Given the description of an element on the screen output the (x, y) to click on. 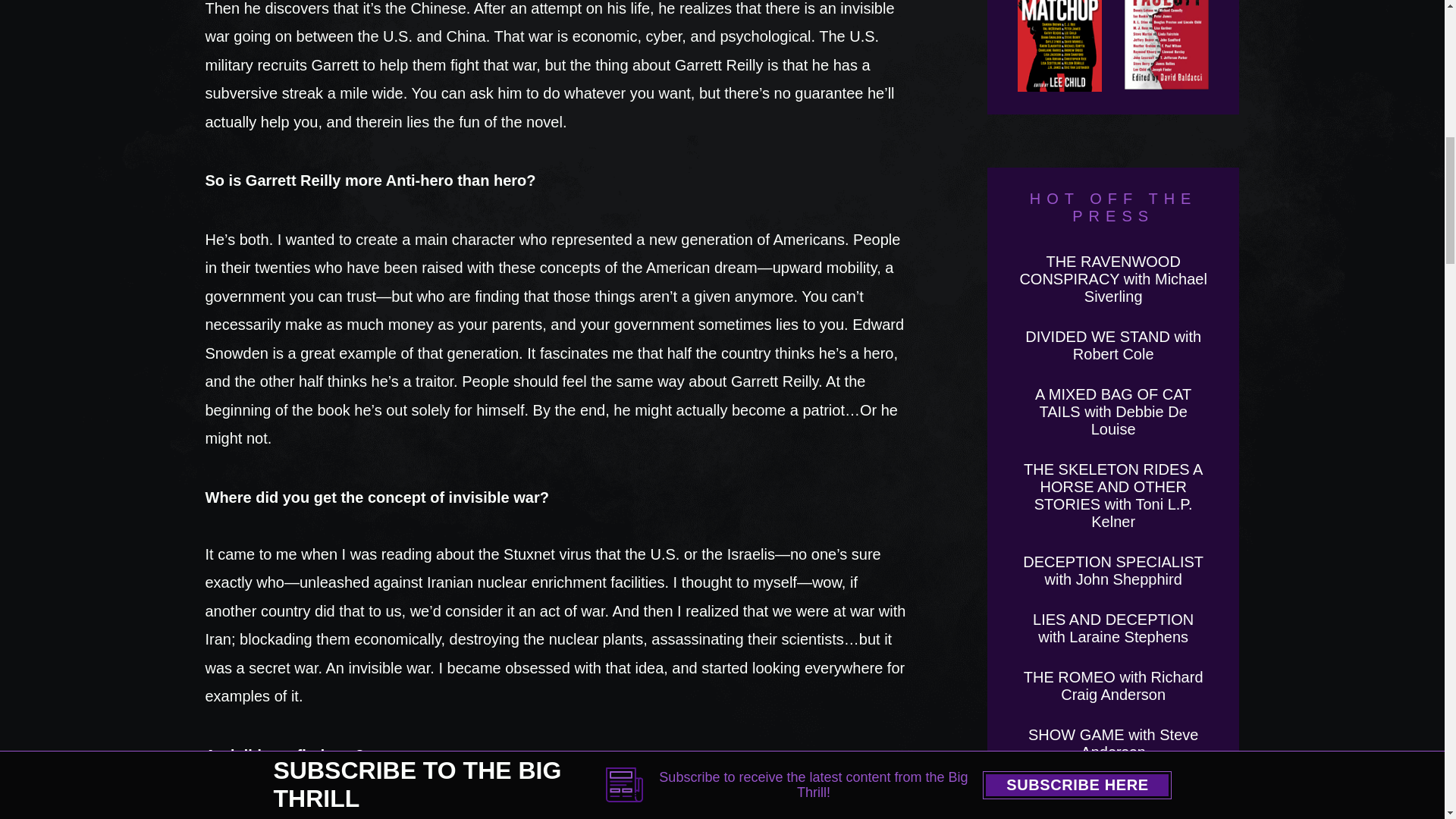
SHOW GAME with Steve Anderson (1112, 743)
THE ROMEO with Richard Craig Anderson (1113, 685)
LIES AND DECEPTION with Laraine Stephens (1112, 627)
MATCH UP! In Stores Now! (1059, 45)
THE RAVENWOOD CONSPIRACY with Michael Siverling (1113, 278)
Esme Addison (1112, 791)
FACEOFF! In Stores Now! (1166, 45)
DECEPTION SPECIALIST with John Shepphird (1113, 570)
DIVIDED WE STAND with Robert Cole (1113, 345)
A MIXED BAG OF CAT TAILS with Debbie De Louise (1113, 411)
